Given the description of an element on the screen output the (x, y) to click on. 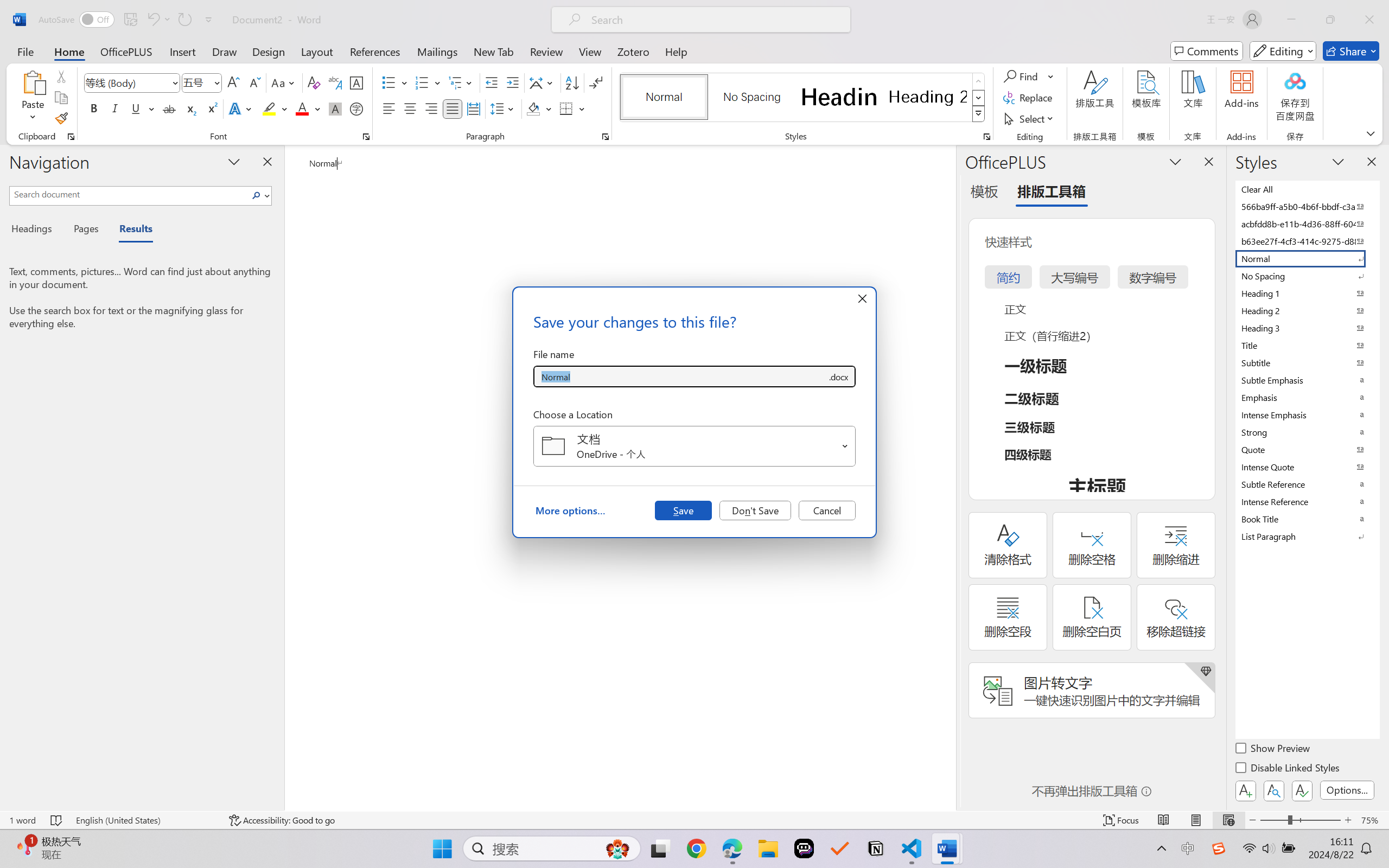
Increase Indent (512, 82)
Class: MsoCommandBar (694, 819)
b63ee27f-4cf3-414c-9275-d88e3f90795e (1306, 240)
Help (675, 51)
Save (682, 509)
File Tab (24, 51)
Text Highlight Color Yellow (269, 108)
Sort... (571, 82)
Zotero (632, 51)
